Given the description of an element on the screen output the (x, y) to click on. 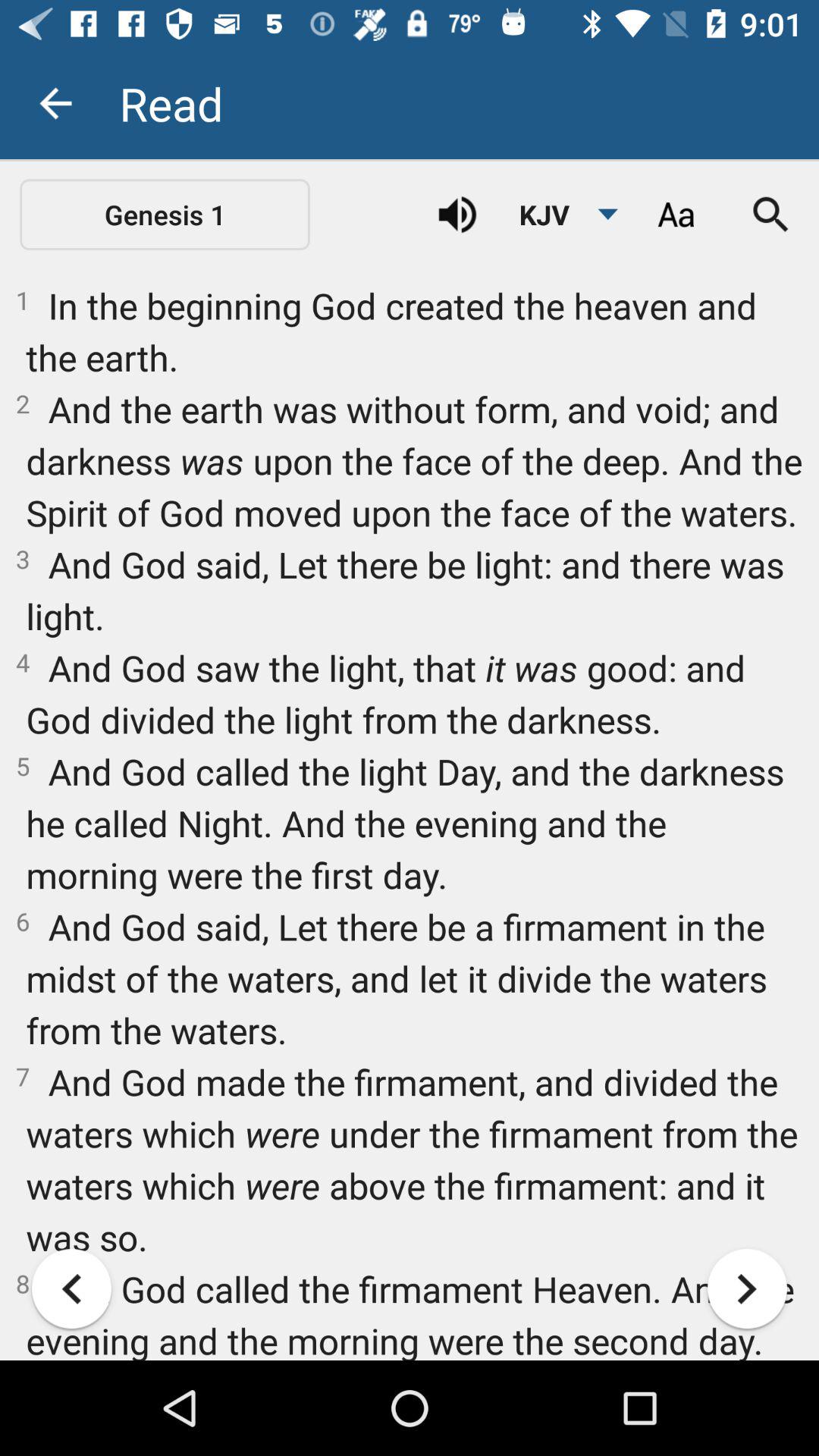
go to next (747, 1288)
